Given the description of an element on the screen output the (x, y) to click on. 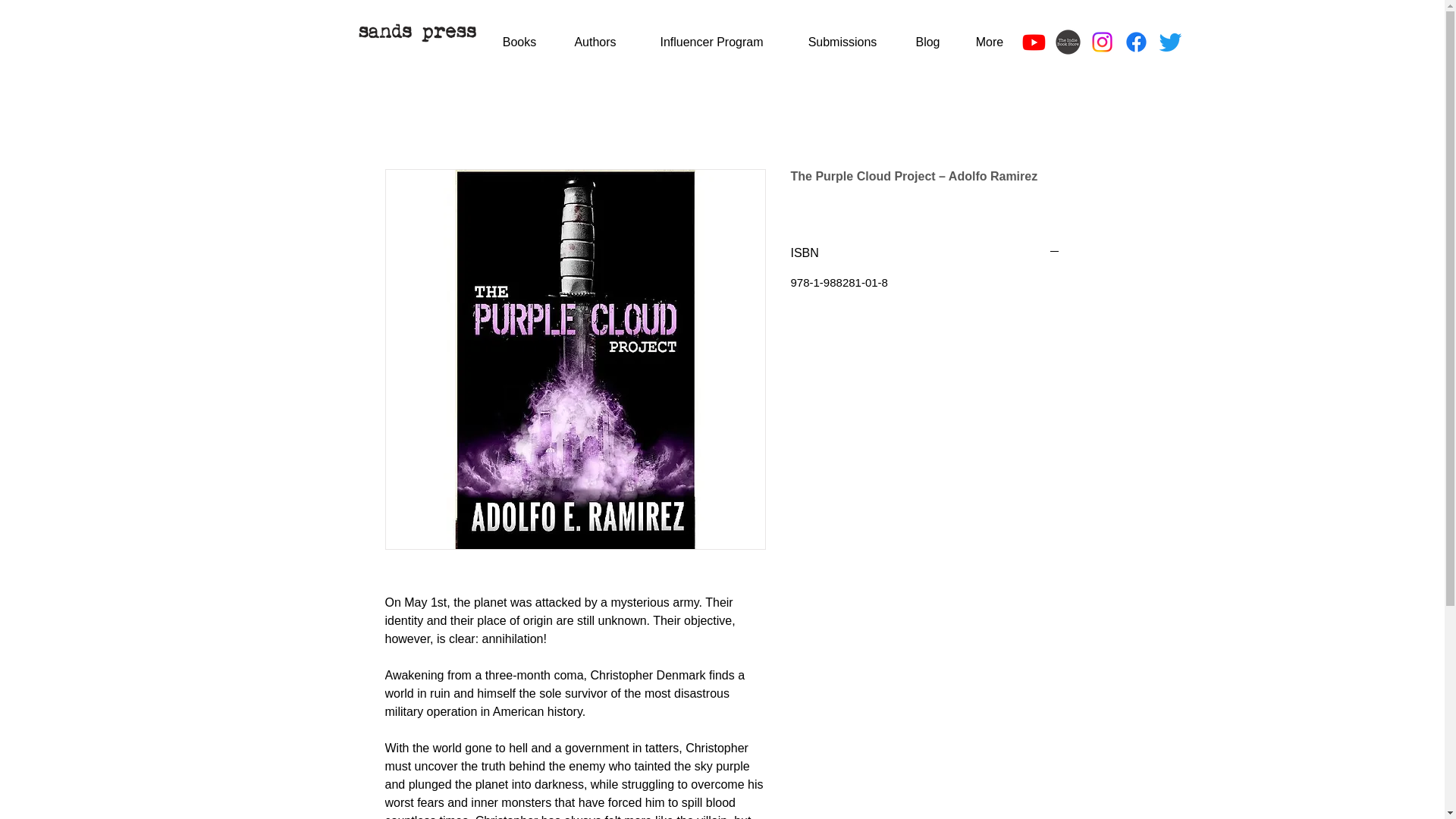
Books (518, 42)
Blog (928, 42)
Submissions (841, 42)
Authors (595, 42)
ISBN (924, 252)
Influencer Program (710, 42)
